Given the description of an element on the screen output the (x, y) to click on. 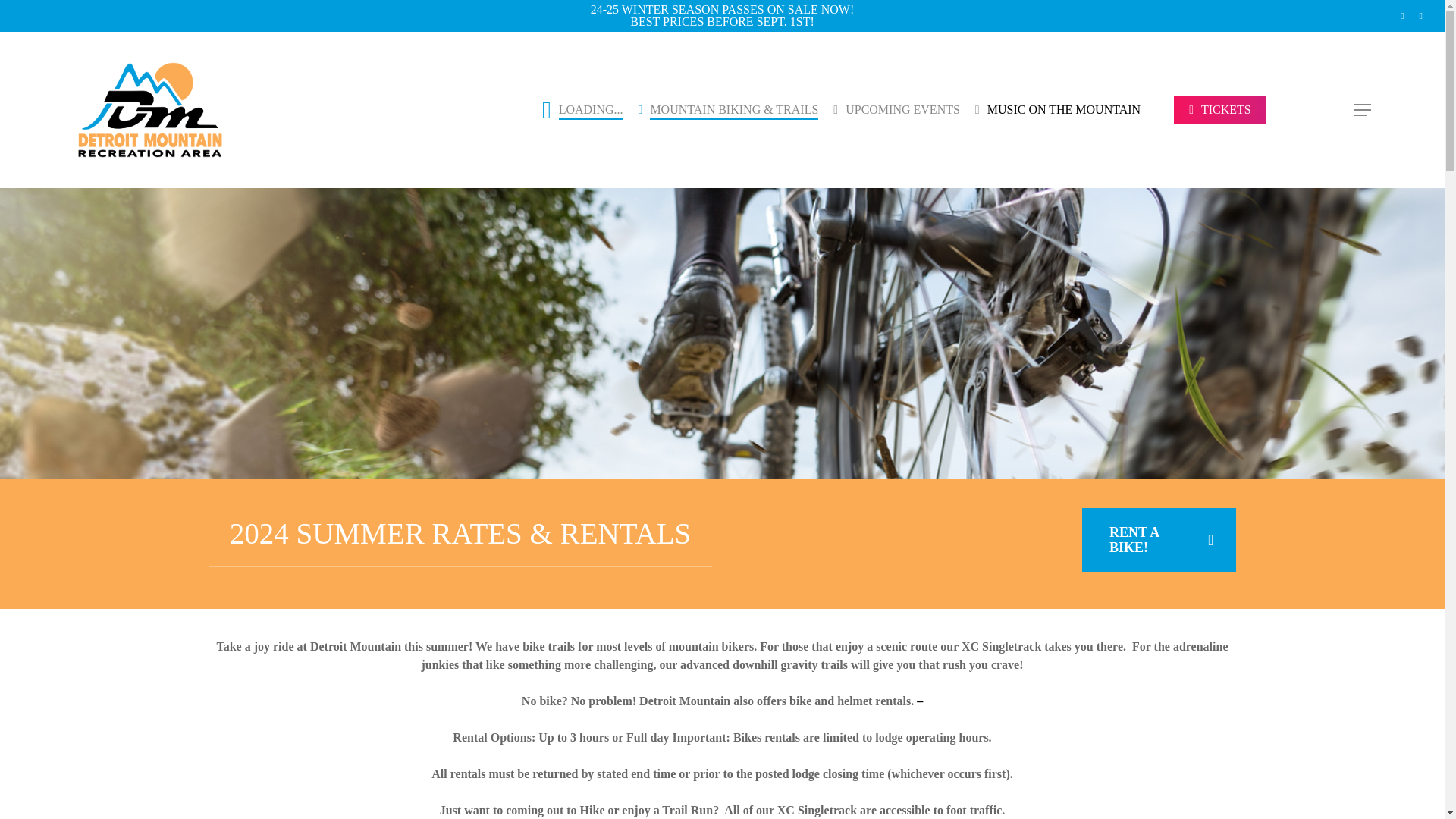
RENT A BIKE! (1158, 539)
UPCOMING EVENTS (895, 109)
TICKETS (1220, 109)
Menu (1363, 109)
MUSIC ON THE MOUNTAIN (1057, 109)
LOADING... (582, 109)
